Given the description of an element on the screen output the (x, y) to click on. 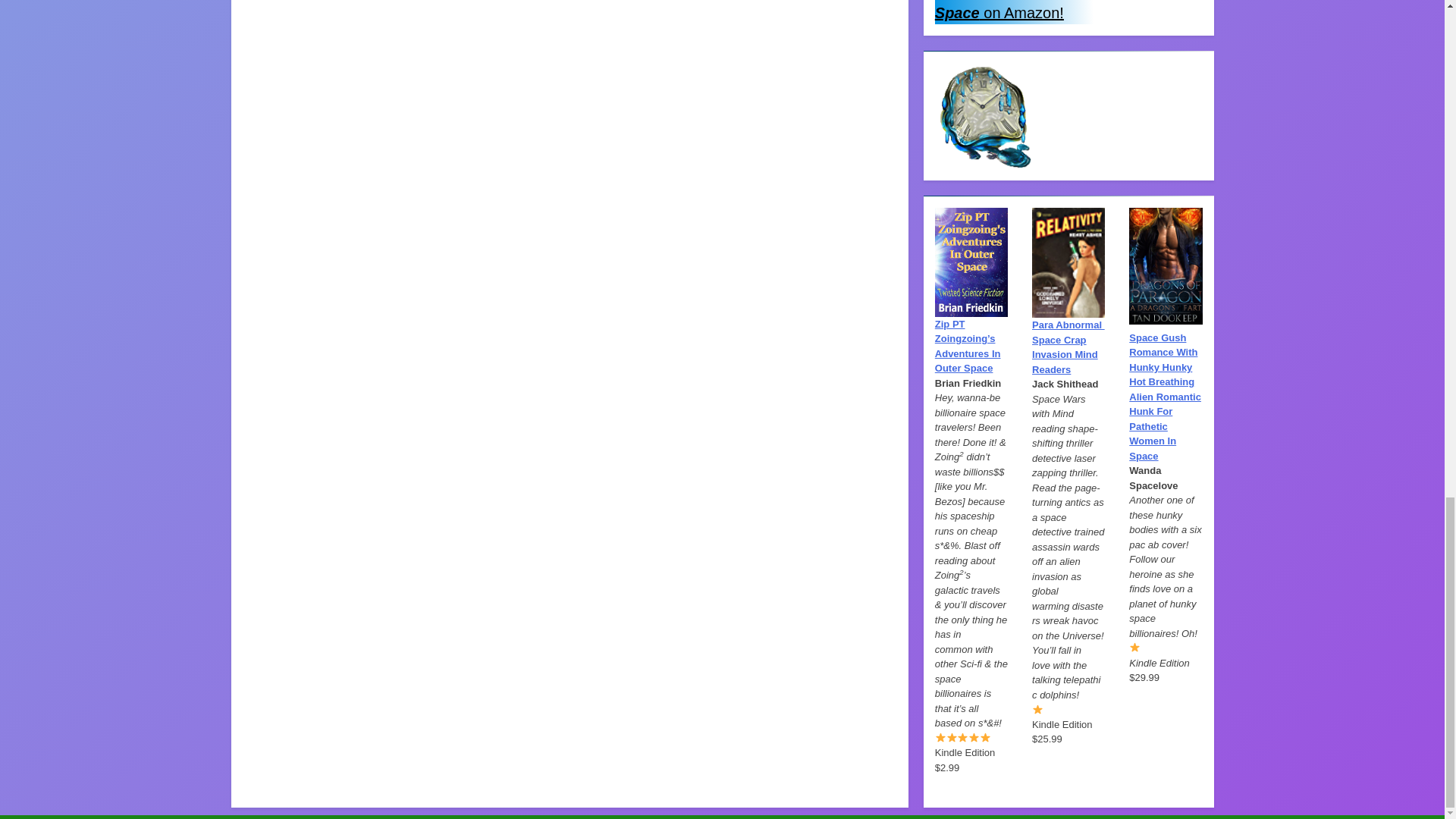
Para Abnormal Space Crap Invasion Mind Readers (1068, 347)
